Given the description of an element on the screen output the (x, y) to click on. 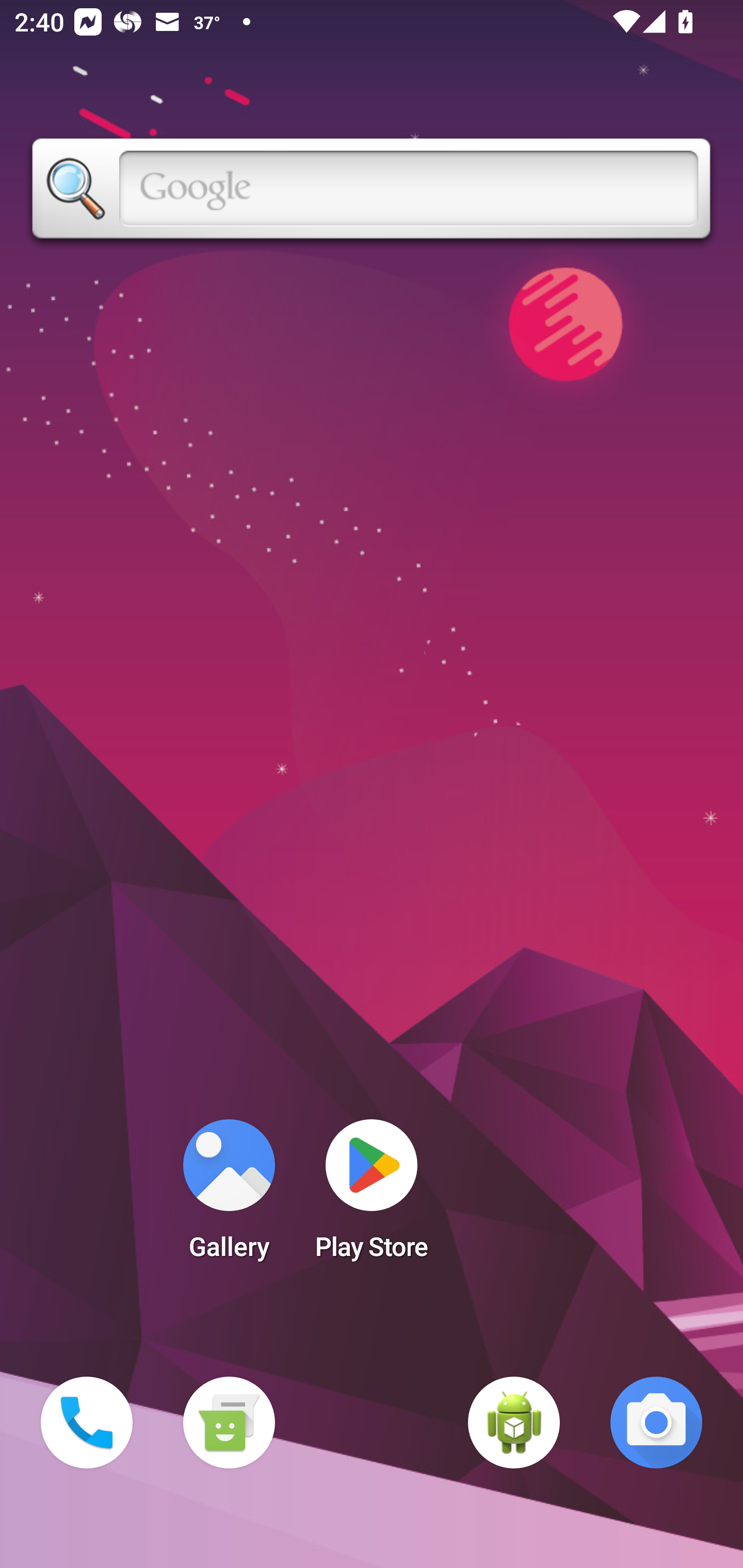
Gallery (228, 1195)
Play Store (371, 1195)
Phone (86, 1422)
Messaging (228, 1422)
WebView Browser Tester (513, 1422)
Camera (656, 1422)
